Given the description of an element on the screen output the (x, y) to click on. 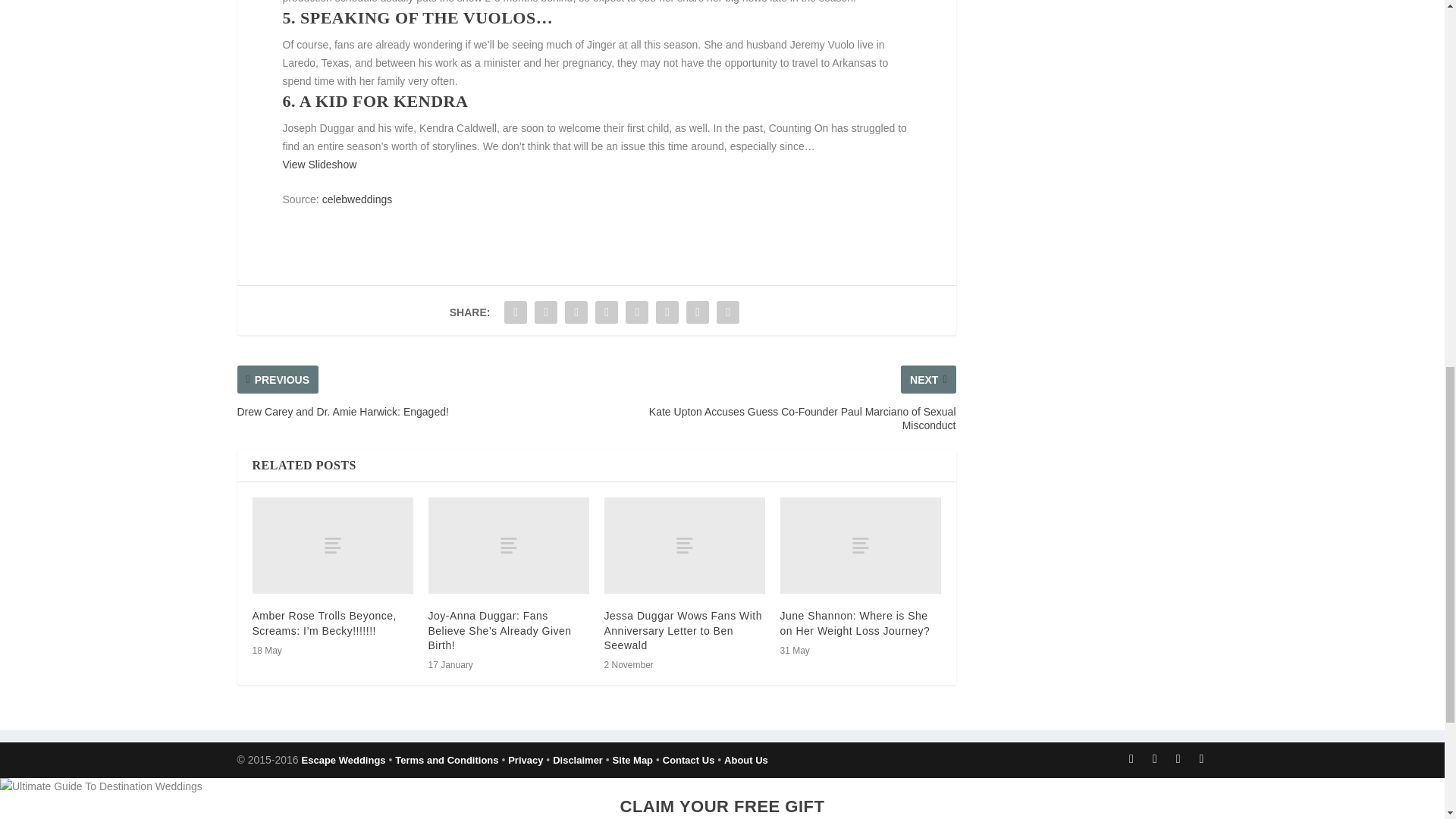
June Shannon: Where is She on Her Weight Loss Journey? (854, 622)
Terms and Conditions (445, 759)
Destination Weddings and Honeymoons (343, 759)
Escape Weddings (343, 759)
View Slideshow (319, 164)
celebweddings (357, 199)
June Shannon: Where is She on Her Weight Loss Journey? (859, 545)
